Given the description of an element on the screen output the (x, y) to click on. 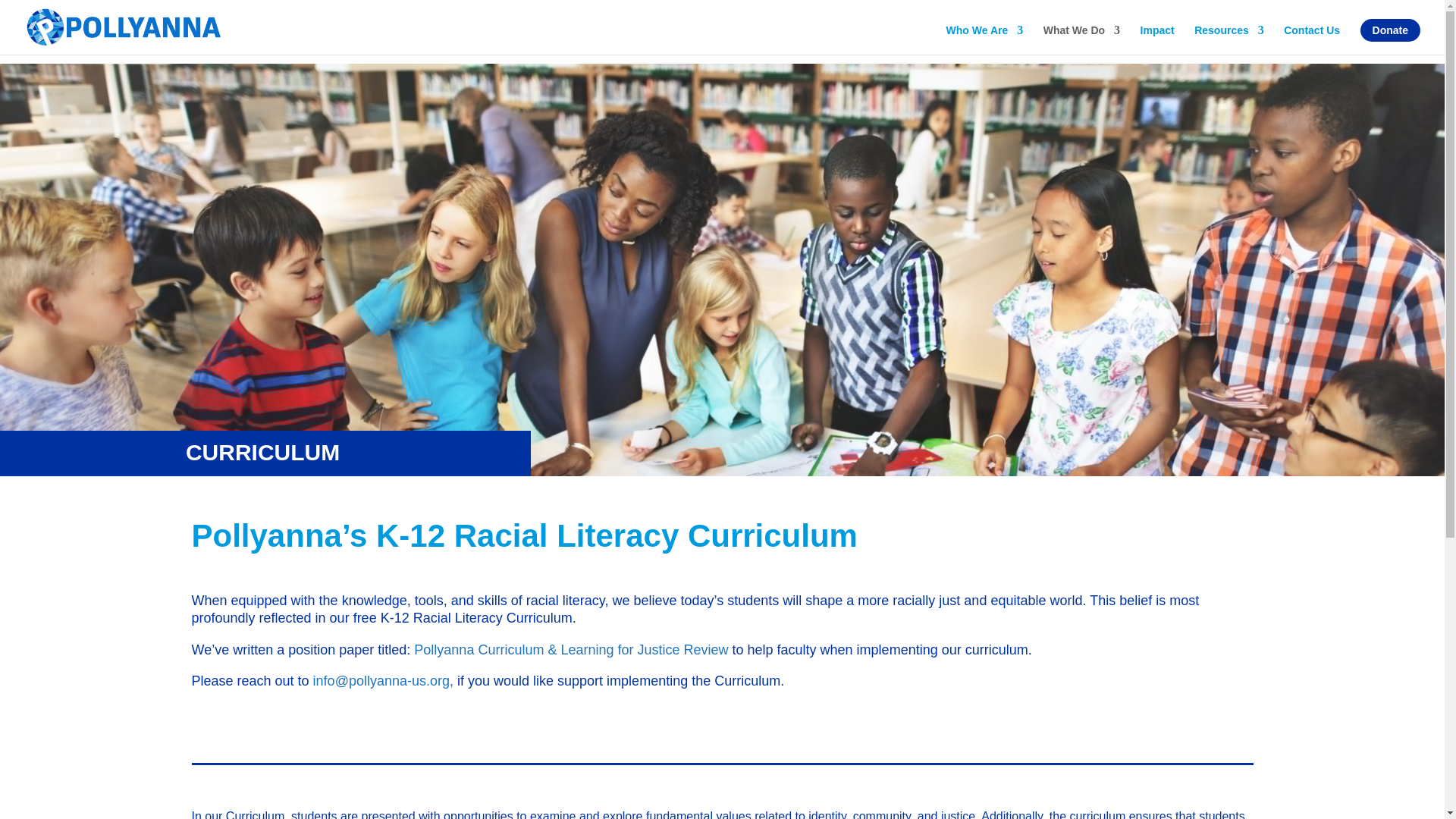
Resources (1228, 39)
Contact Us (1311, 39)
What We Do (1081, 39)
Impact (1157, 39)
Donate (1390, 30)
Who We Are (984, 39)
